Given the description of an element on the screen output the (x, y) to click on. 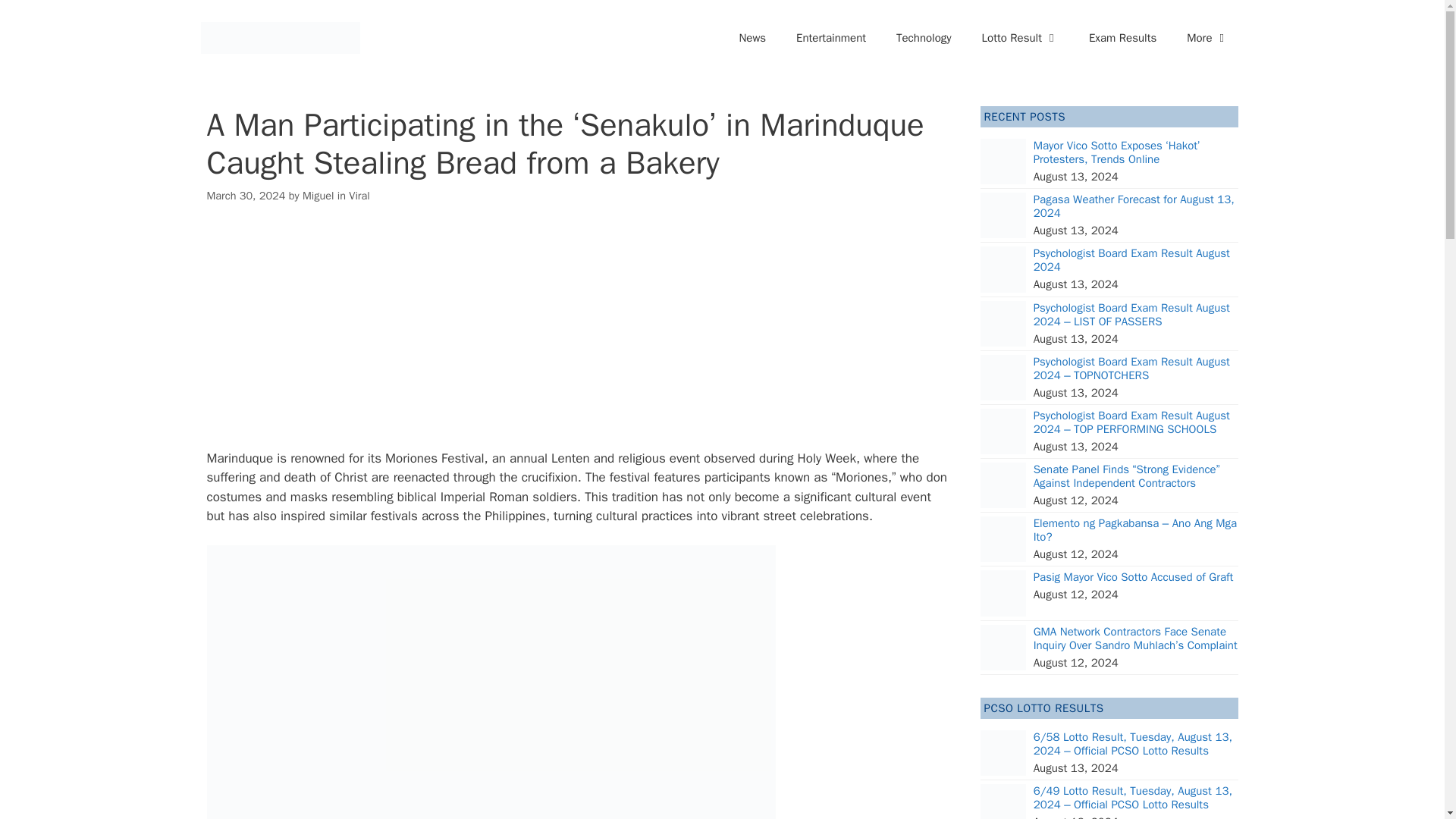
Exam Results (1123, 37)
View all posts by Miguel (318, 195)
Entertainment (830, 37)
More (1207, 37)
Lotto Result (1020, 37)
News (751, 37)
Technology (923, 37)
